Given the description of an element on the screen output the (x, y) to click on. 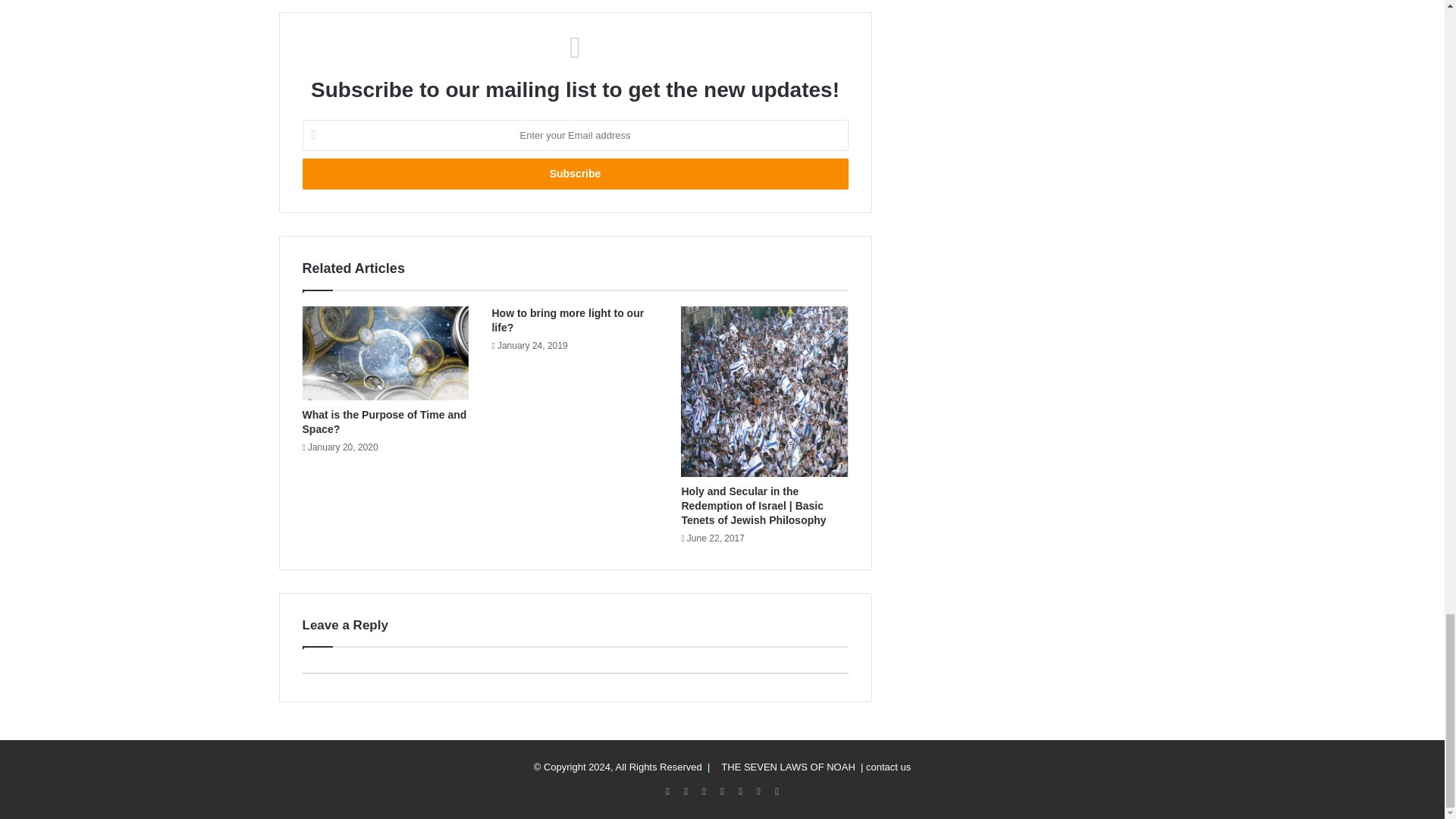
Subscribe (574, 173)
